Given the description of an element on the screen output the (x, y) to click on. 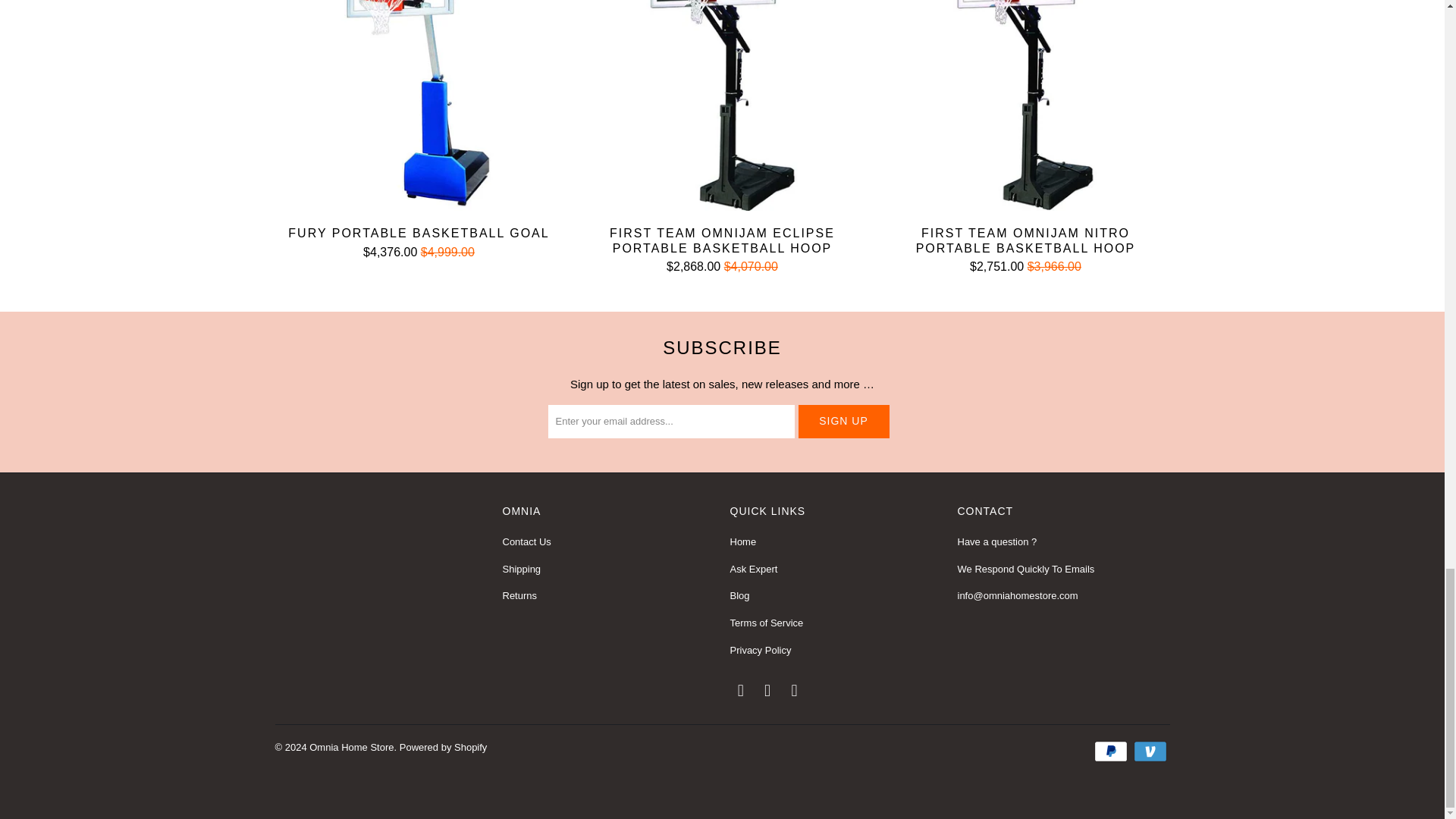
Omnia Home Store on Instagram (794, 690)
PayPal (1112, 751)
Omnia Home Store on Facebook (740, 690)
Venmo (1150, 751)
Omnia Home Store on Pinterest (767, 690)
Sign Up (842, 421)
